Given the description of an element on the screen output the (x, y) to click on. 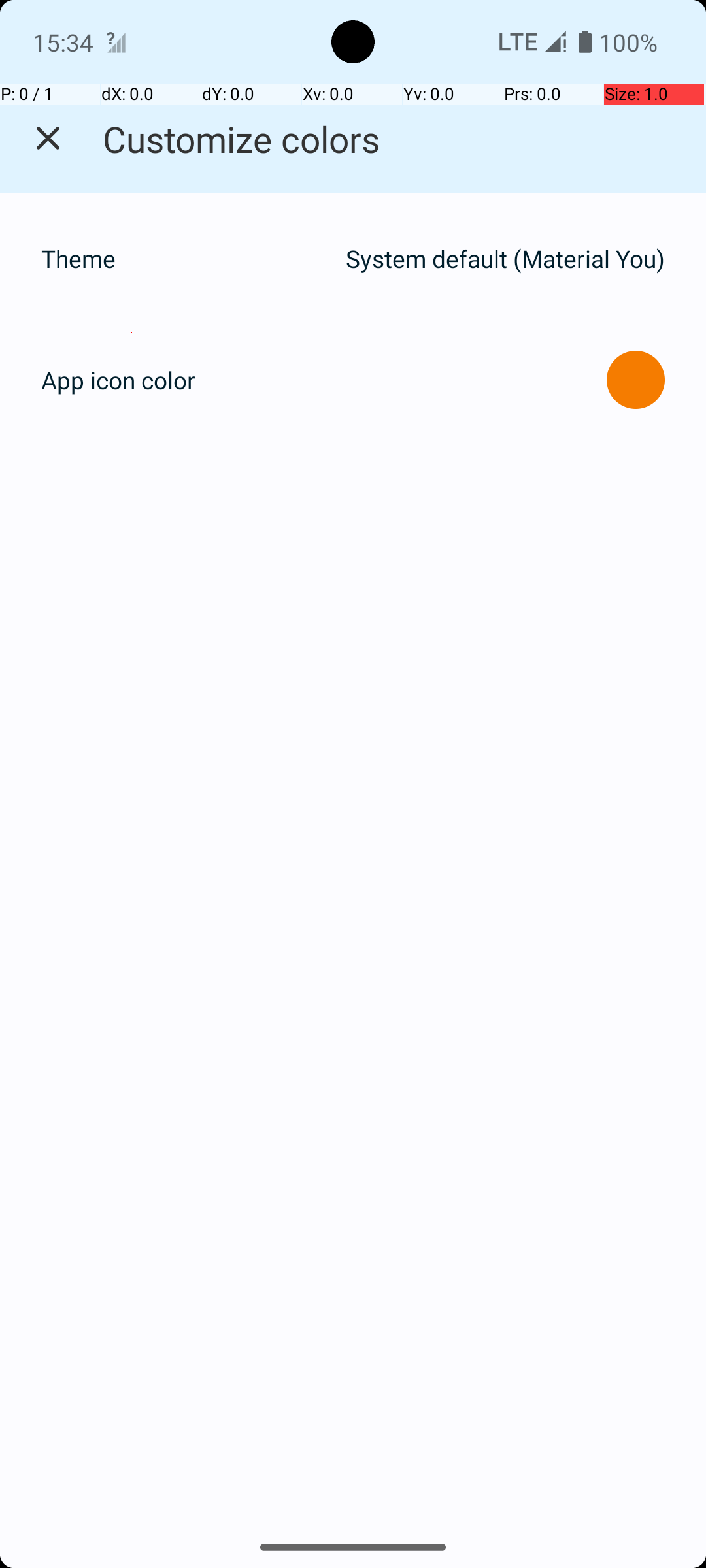
System default (Material You) Element type: android.widget.TextView (504, 258)
App icon color Element type: android.widget.TextView (118, 379)
